Given the description of an element on the screen output the (x, y) to click on. 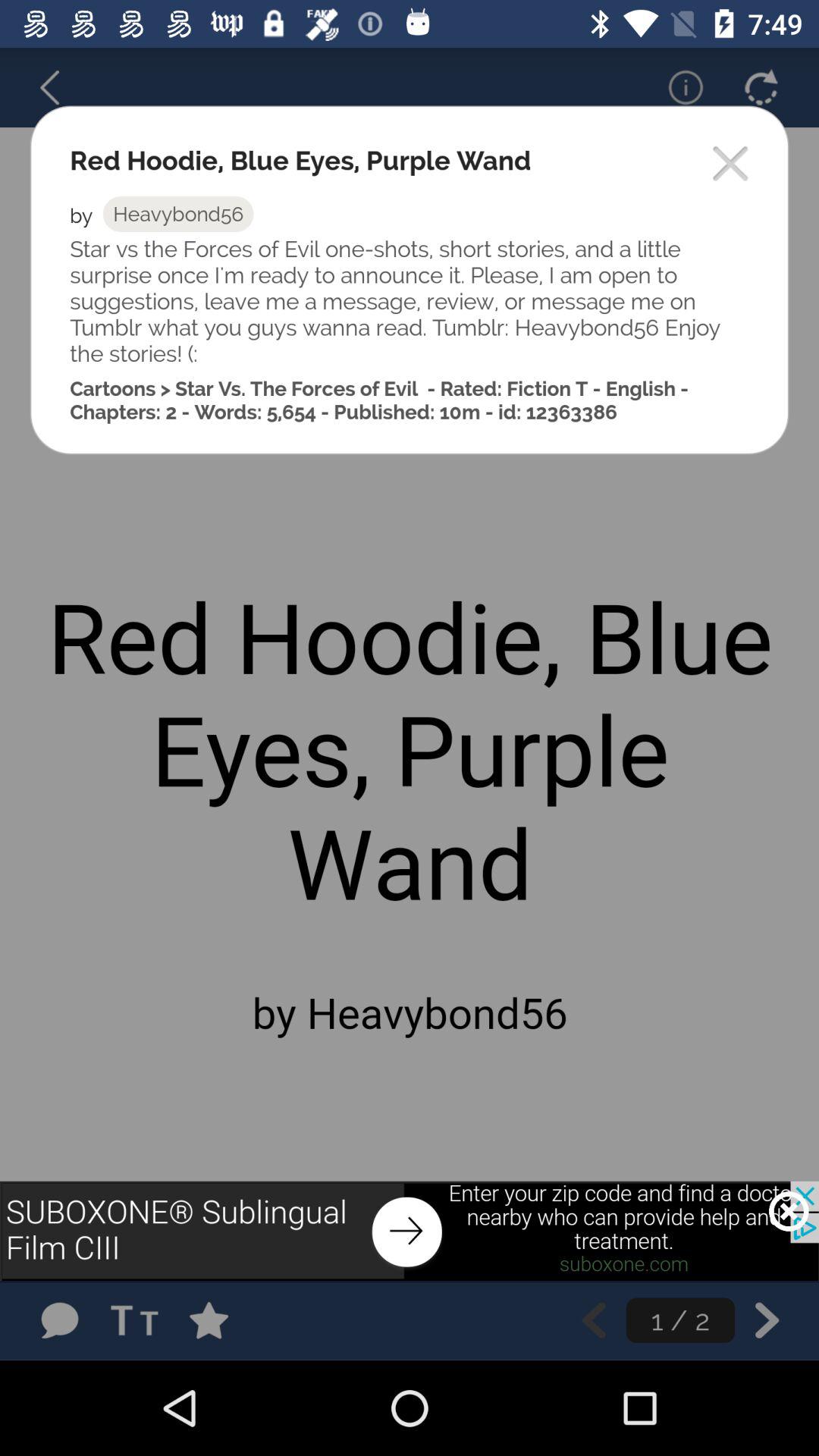
close window (731, 165)
